Given the description of an element on the screen output the (x, y) to click on. 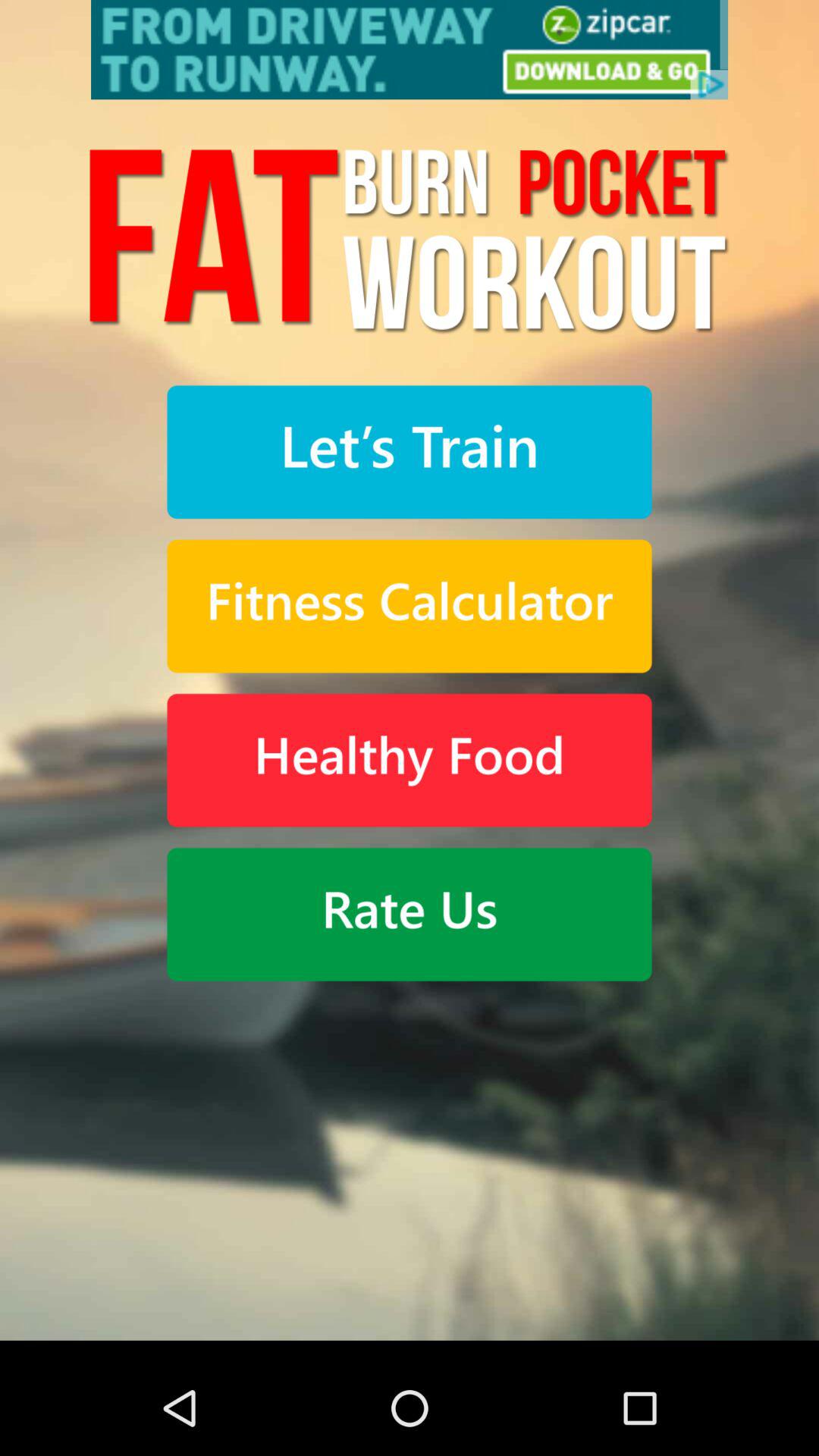
advertisement link (409, 49)
